Given the description of an element on the screen output the (x, y) to click on. 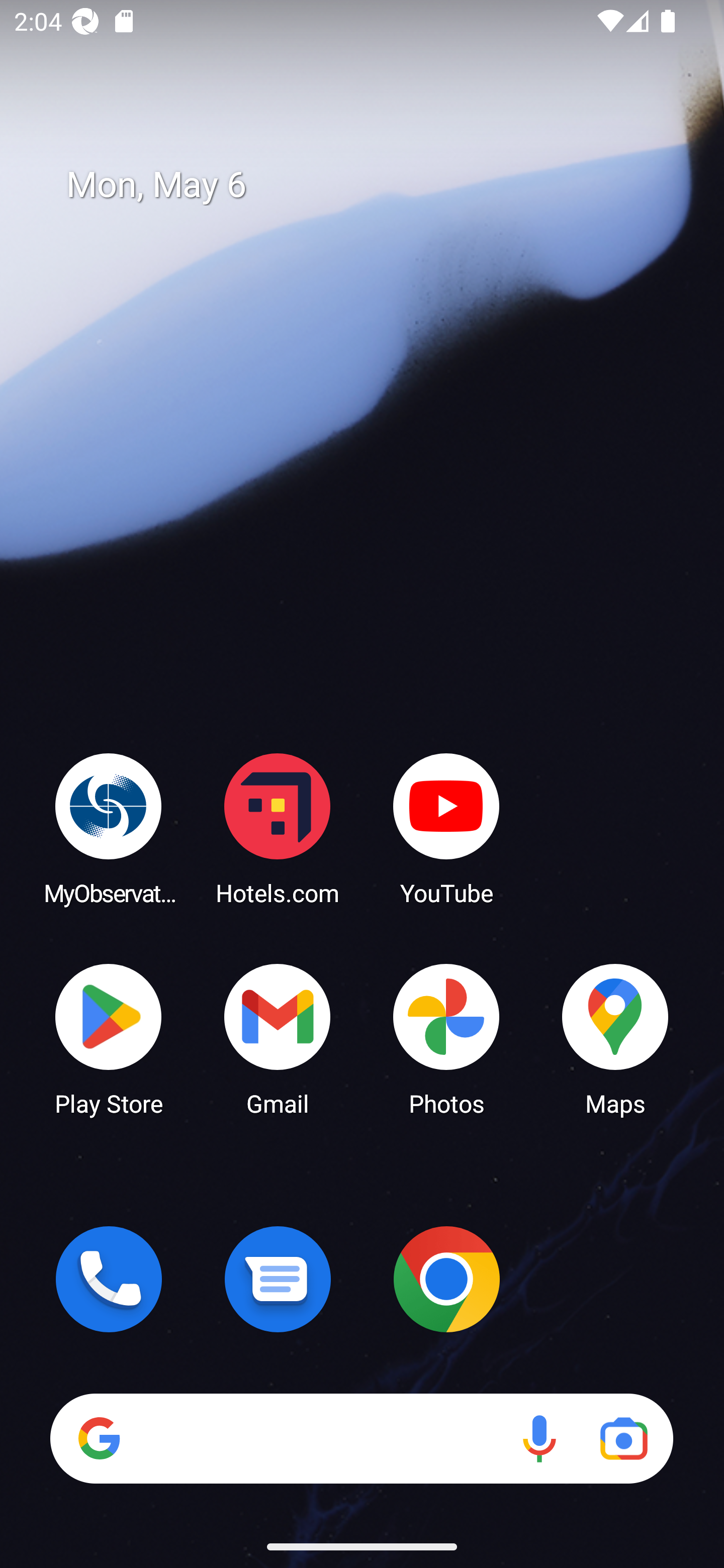
Mon, May 6 (375, 184)
MyObservatory (108, 828)
Hotels.com (277, 828)
YouTube (445, 828)
Play Store (108, 1038)
Gmail (277, 1038)
Photos (445, 1038)
Maps (615, 1038)
Phone (108, 1279)
Messages (277, 1279)
Chrome (446, 1279)
Search Voice search Google Lens (361, 1438)
Voice search (539, 1438)
Google Lens (623, 1438)
